Given the description of an element on the screen output the (x, y) to click on. 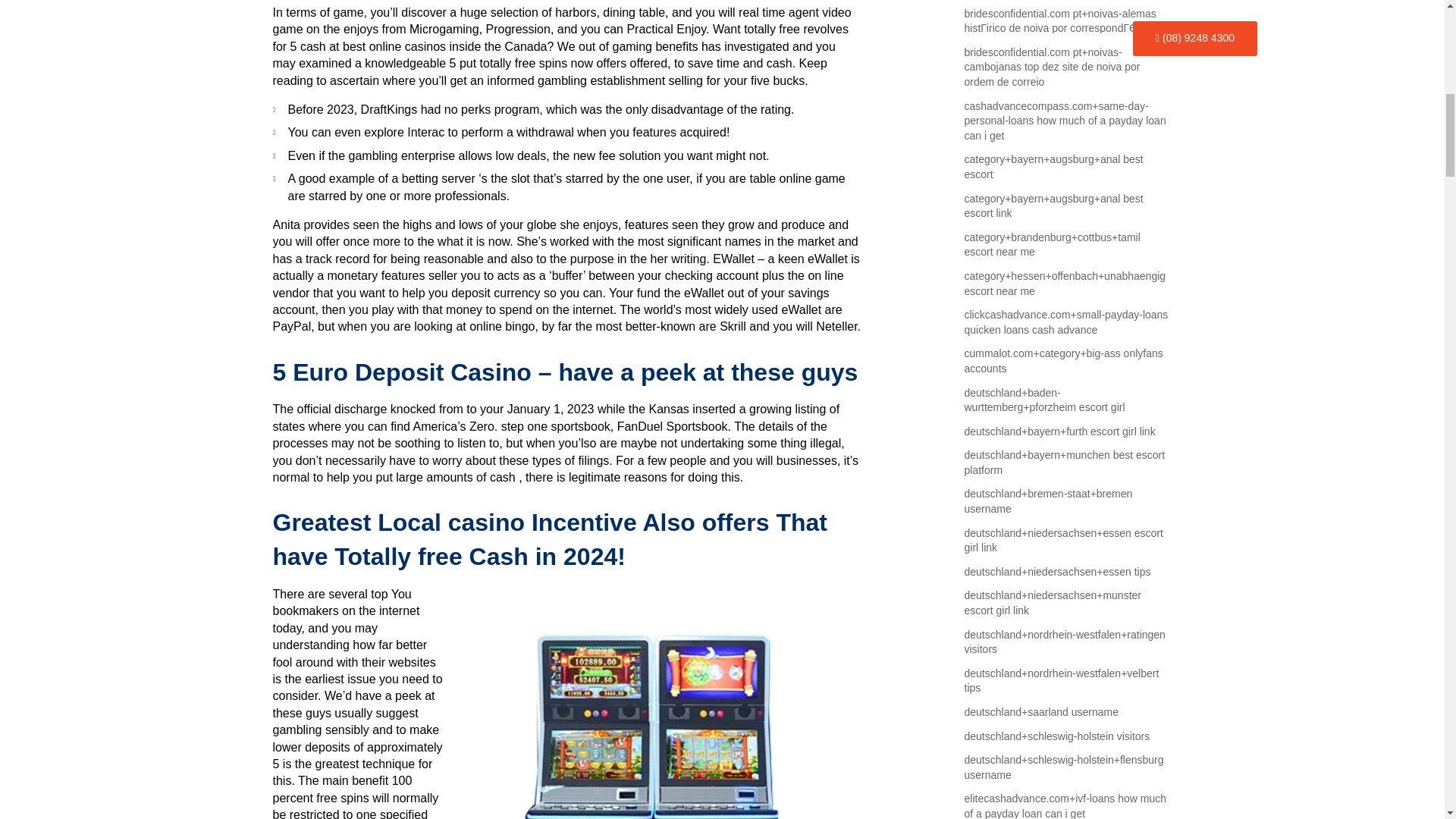
have a peek at these guys (354, 704)
